Given the description of an element on the screen output the (x, y) to click on. 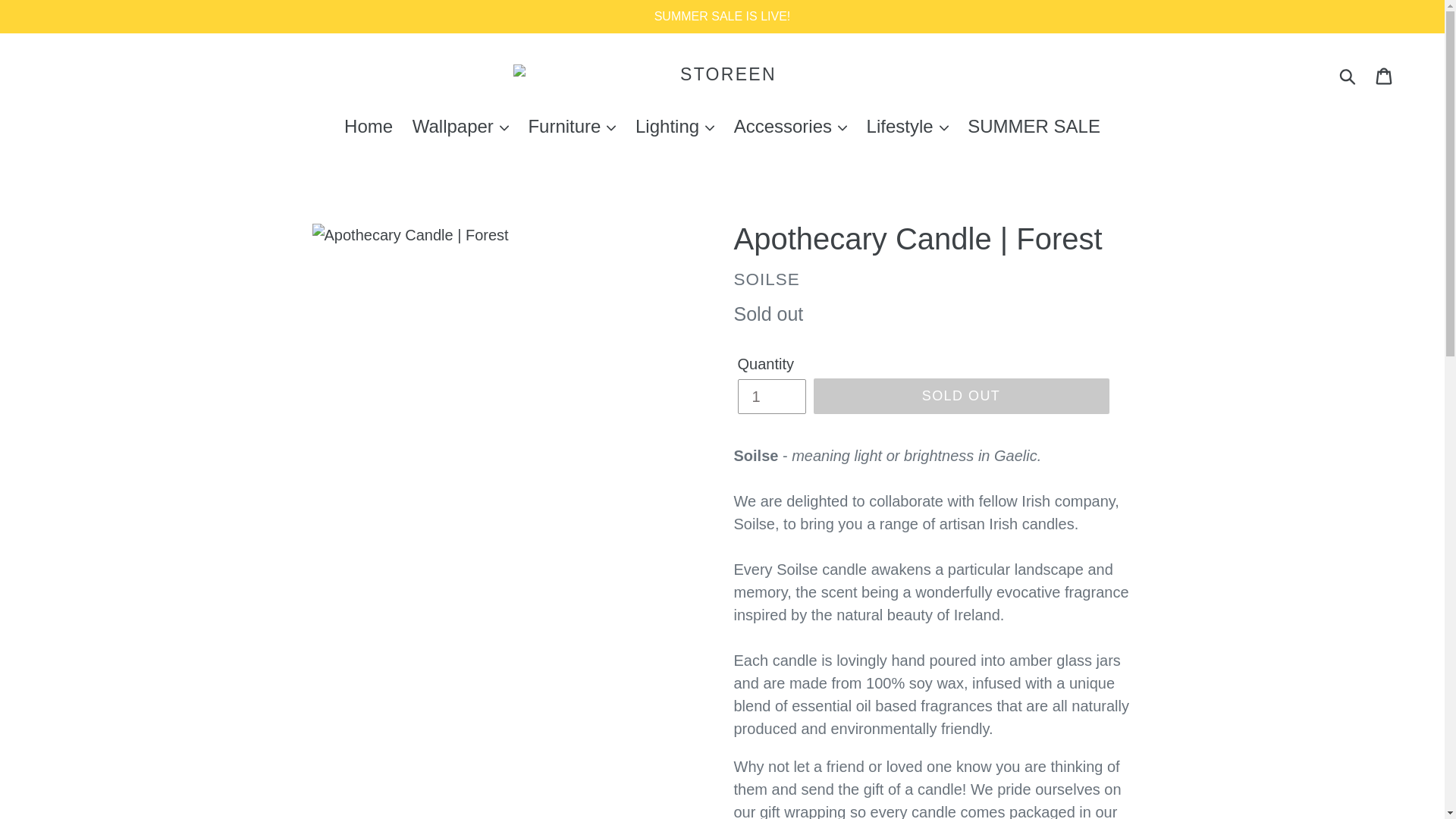
Submit (1348, 74)
Cart (1385, 75)
1 (770, 396)
